Given the description of an element on the screen output the (x, y) to click on. 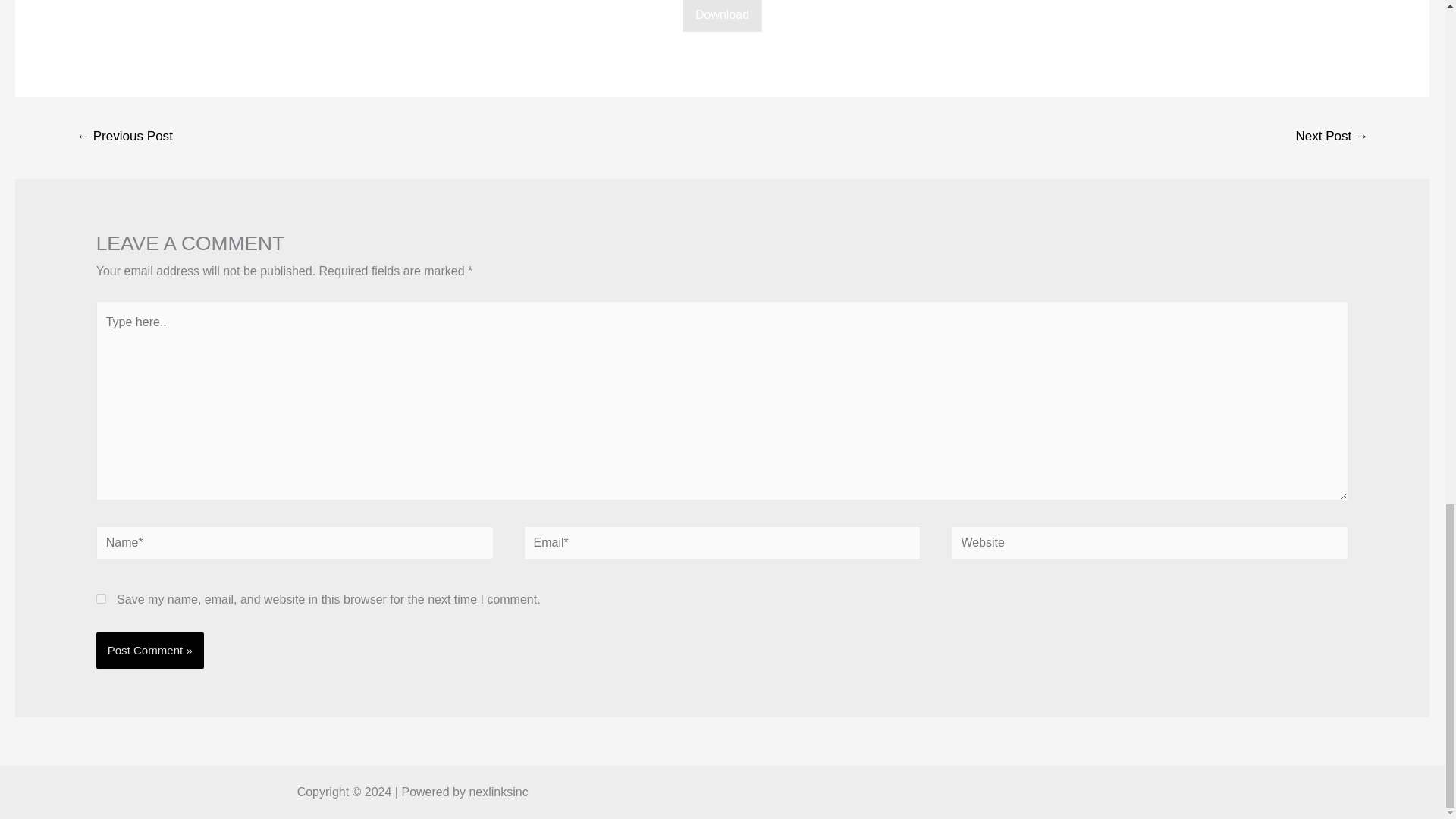
yes (101, 598)
Download (721, 14)
Download (721, 16)
